Given the description of an element on the screen output the (x, y) to click on. 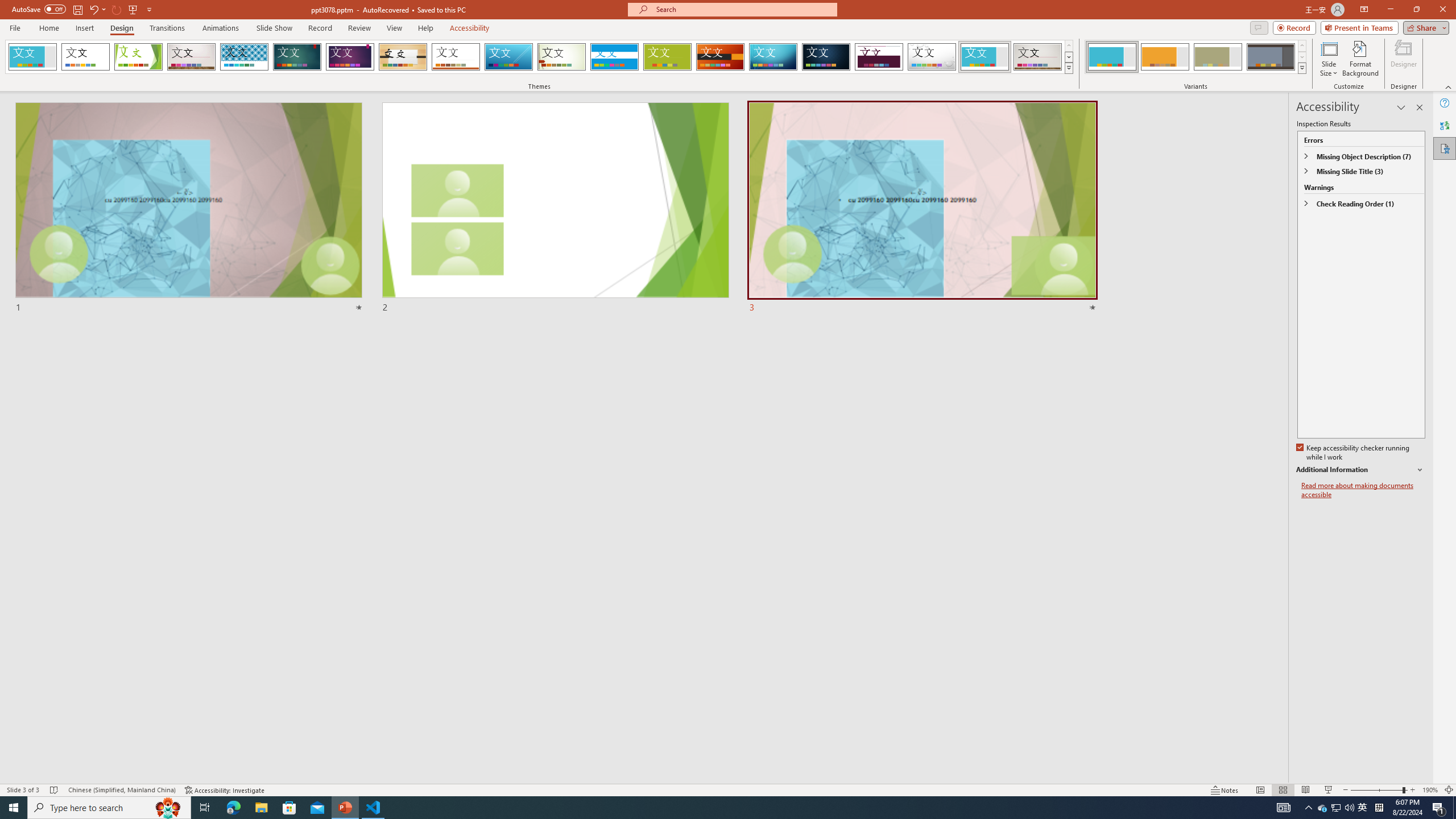
Frame Variant 1 (1112, 56)
Retrospect (455, 56)
Frame (984, 56)
Frame Variant 4 (1270, 56)
AutomationID: SlideThemesGallery (539, 56)
Variants (1301, 67)
Dividend (879, 56)
